Given the description of an element on the screen output the (x, y) to click on. 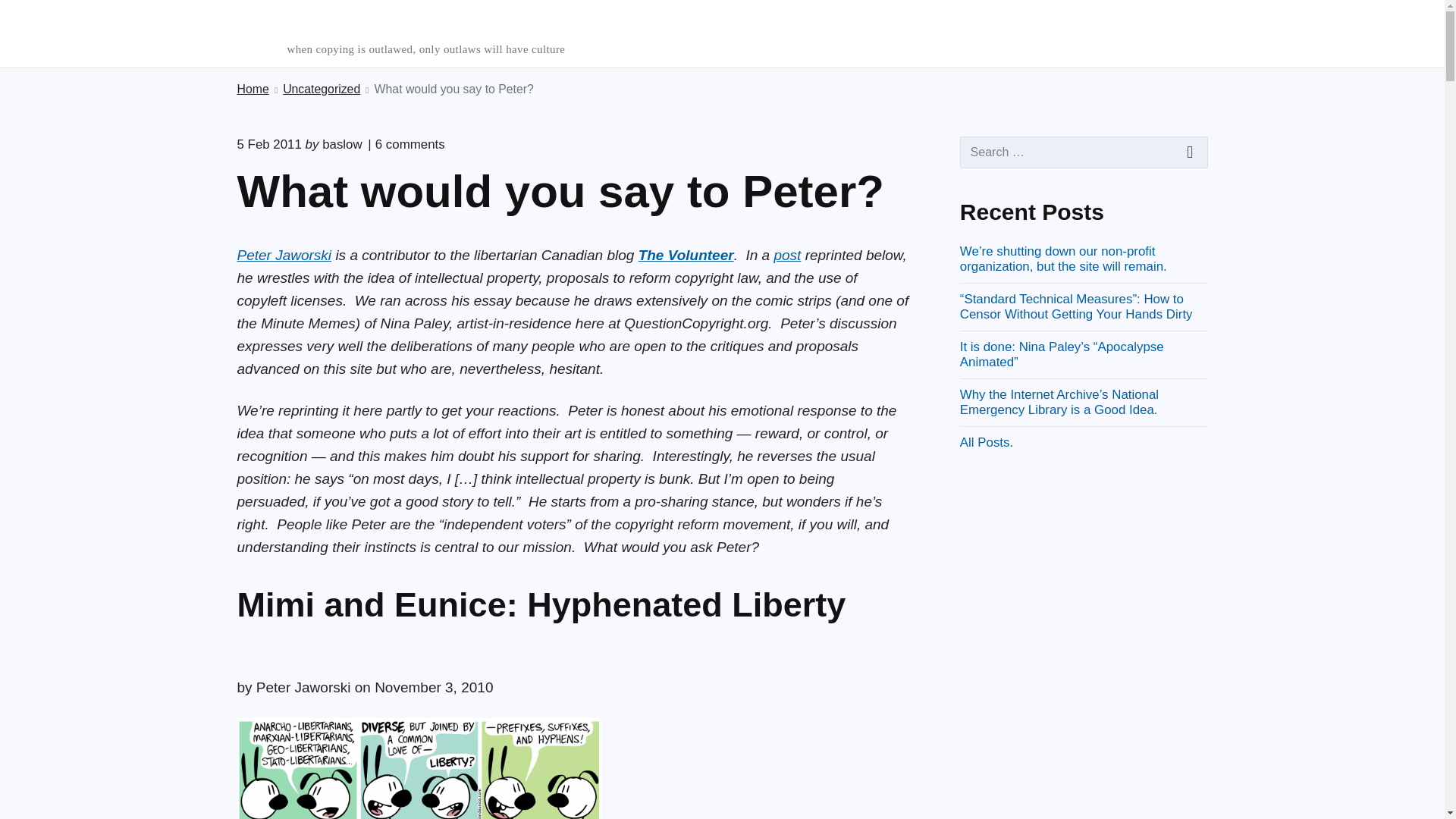
post (786, 254)
Peter Jaworski (283, 254)
The Volunteer (686, 254)
Saturday, February 5, 2011, 12:45 am (268, 144)
The Volunteer (686, 254)
Uncategorized (320, 89)
Posts by baslow (404, 144)
baslow (341, 144)
Home (341, 144)
